Given the description of an element on the screen output the (x, y) to click on. 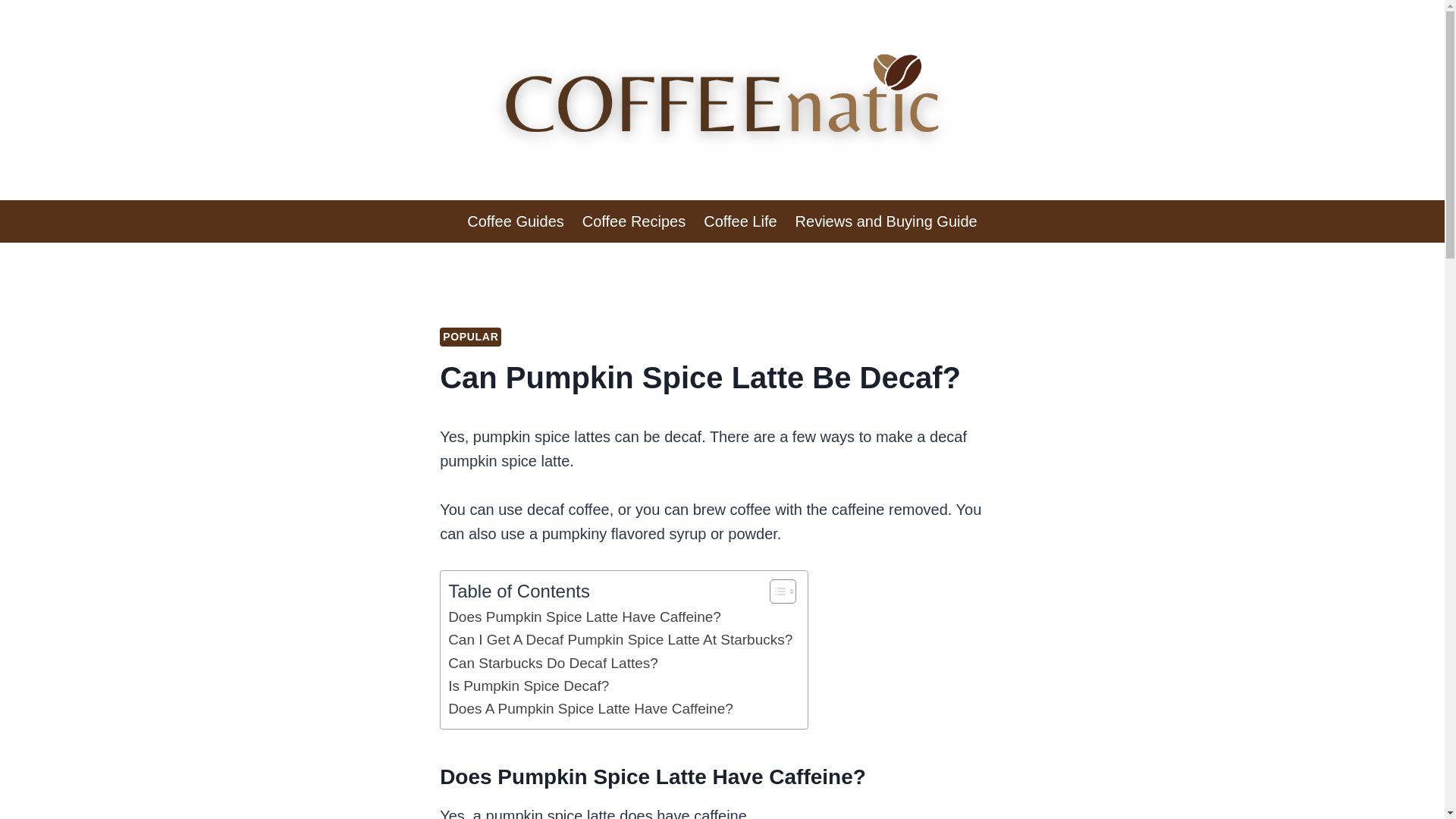
Does A Pumpkin Spice Latte Have Caffeine? (590, 708)
Coffee Guides (515, 220)
Can I Get A Decaf Pumpkin Spice Latte At Starbucks? (620, 639)
Can Starbucks Do Decaf Lattes? (553, 662)
Does Pumpkin Spice Latte Have Caffeine? (584, 617)
Reviews and Buying Guide (886, 220)
Coffee Recipes (633, 220)
POPULAR (469, 336)
Is Pumpkin Spice Decaf? (528, 685)
Can I Get A Decaf Pumpkin Spice Latte At Starbucks? (620, 639)
